Given the description of an element on the screen output the (x, y) to click on. 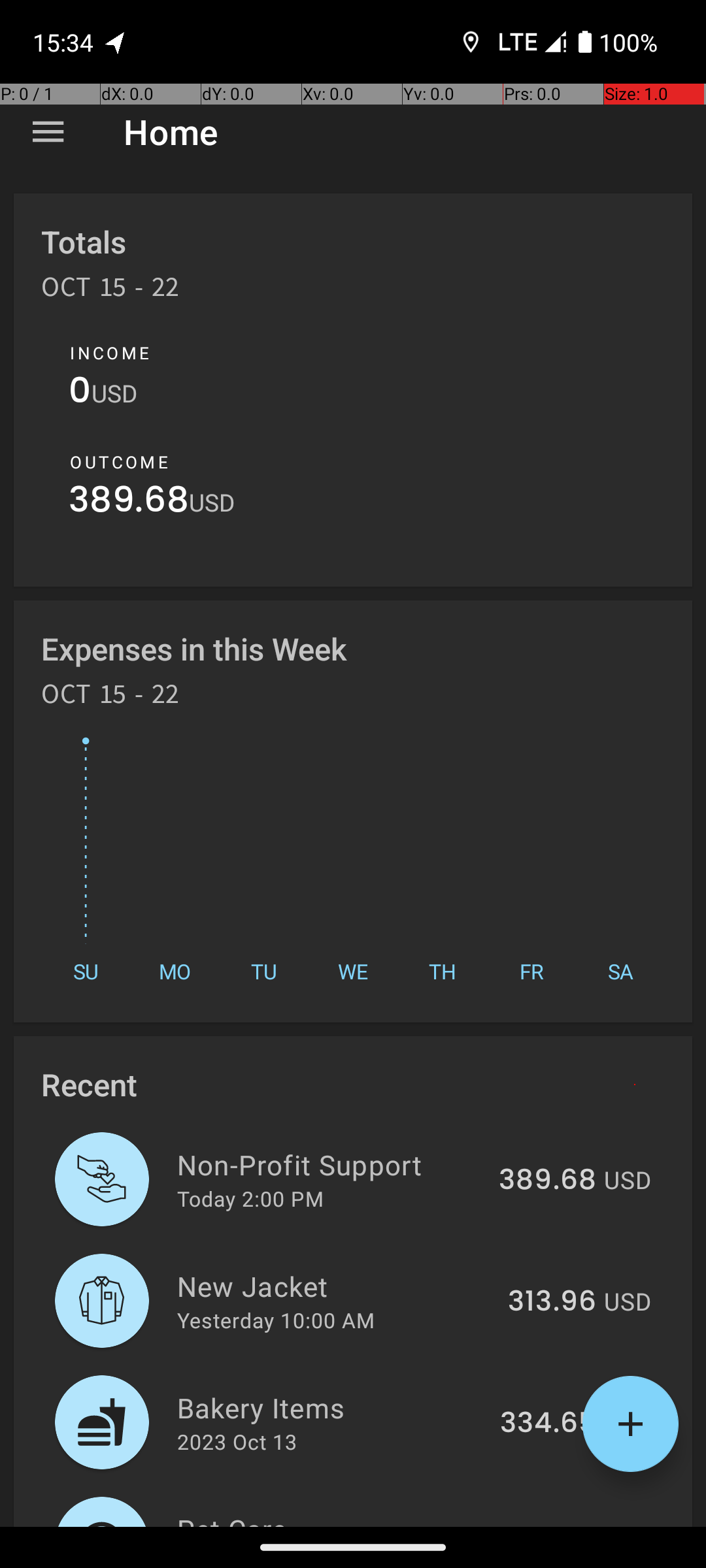
389.68 Element type: android.widget.TextView (128, 502)
Non-Profit Support Element type: android.widget.TextView (330, 1164)
Today 2:00 PM Element type: android.widget.TextView (250, 1198)
New Jacket Element type: android.widget.TextView (334, 1285)
Yesterday 10:00 AM Element type: android.widget.TextView (275, 1320)
313.96 Element type: android.widget.TextView (551, 1301)
Bakery Items Element type: android.widget.TextView (330, 1407)
334.65 Element type: android.widget.TextView (547, 1423)
Pet Care Element type: android.widget.TextView (330, 1518)
359.45 Element type: android.widget.TextView (547, 1524)
OpenTracks notification:  Element type: android.widget.ImageView (115, 41)
